Given the description of an element on the screen output the (x, y) to click on. 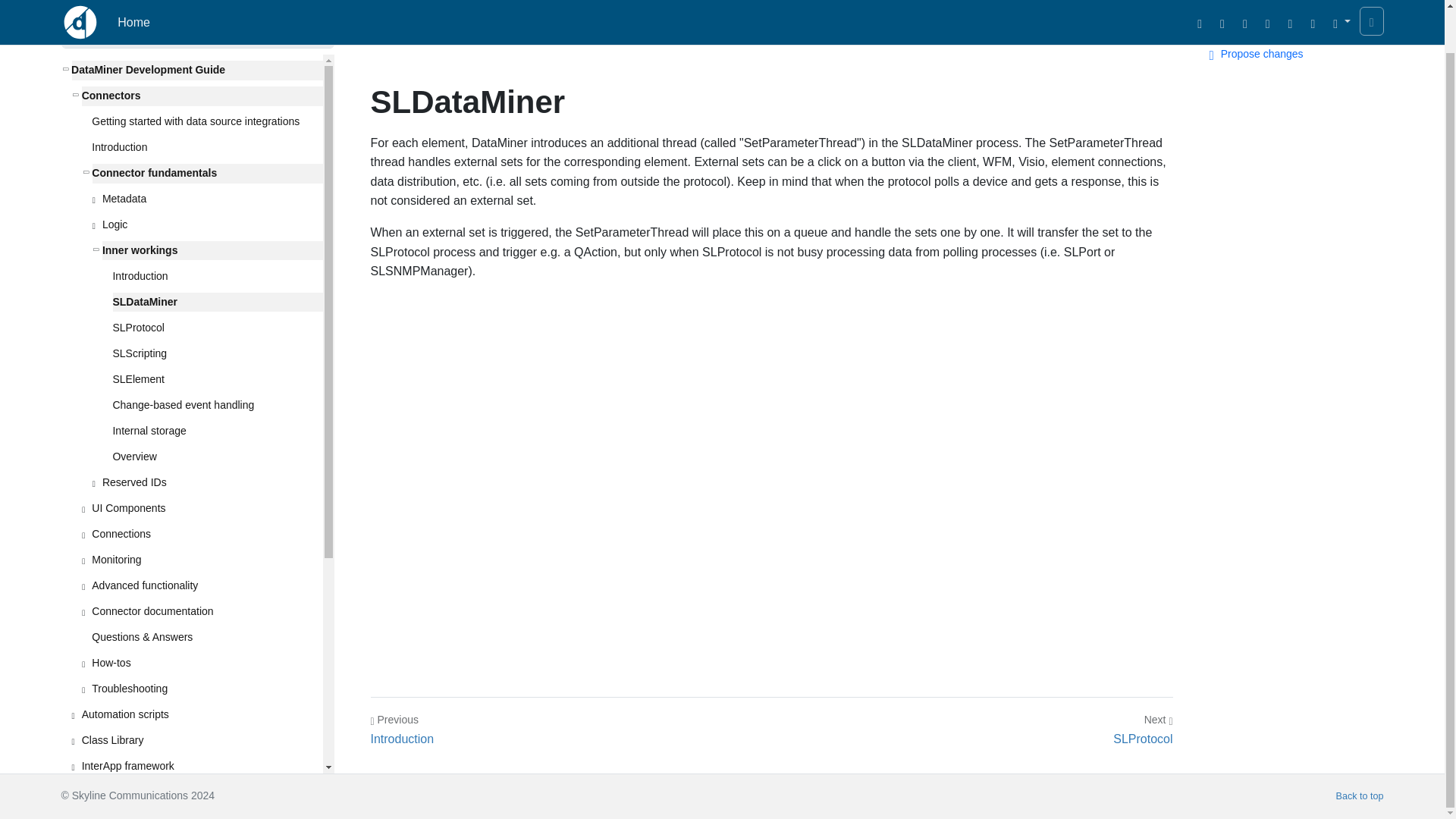
Getting started with data source integrations (206, 121)
Connectors (202, 96)
Introduction (206, 148)
Connector fundamentals (206, 173)
DataMiner Development Guide (196, 70)
Metadata (212, 199)
